Given the description of an element on the screen output the (x, y) to click on. 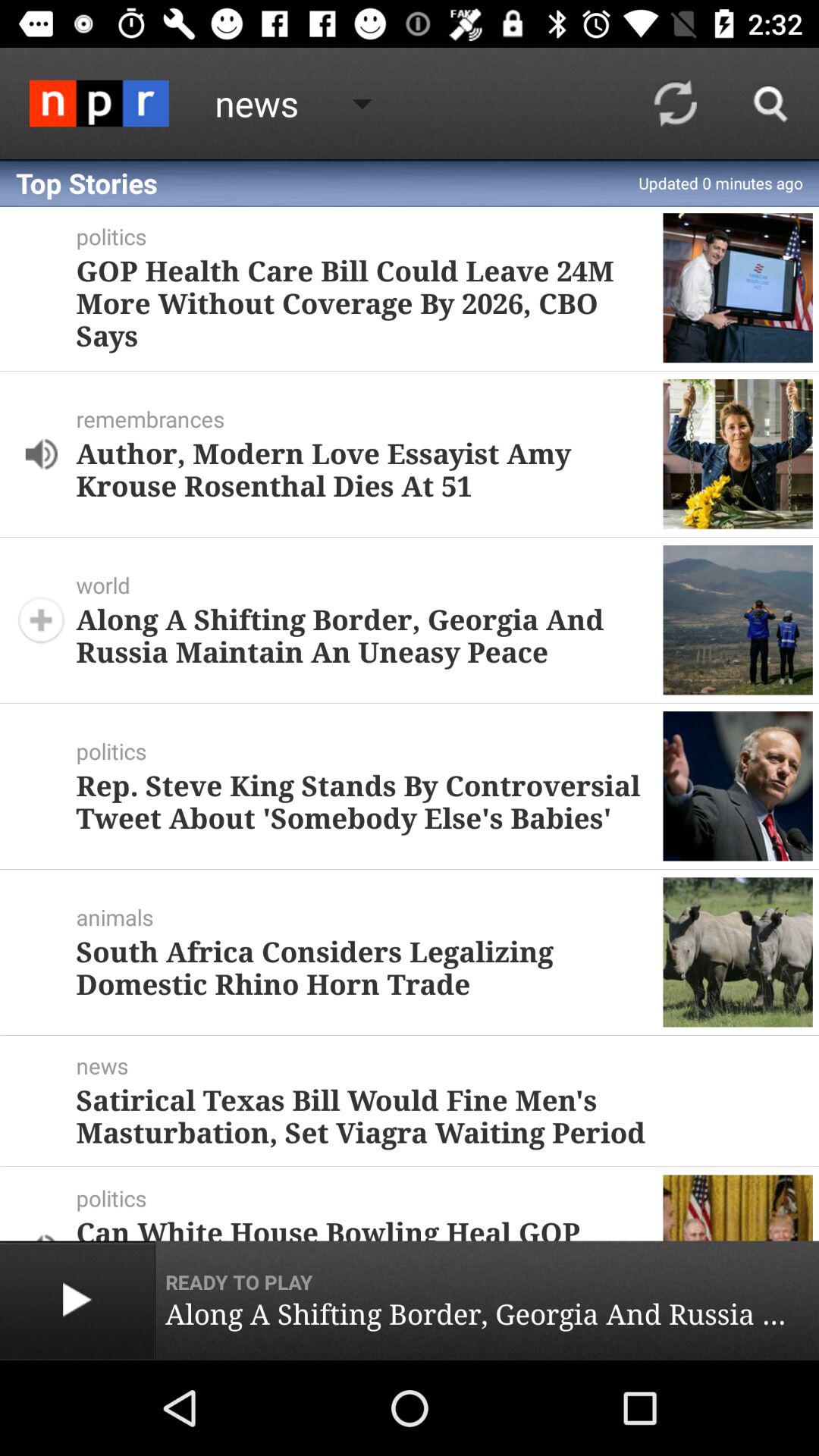
press rep steve king (363, 801)
